Given the description of an element on the screen output the (x, y) to click on. 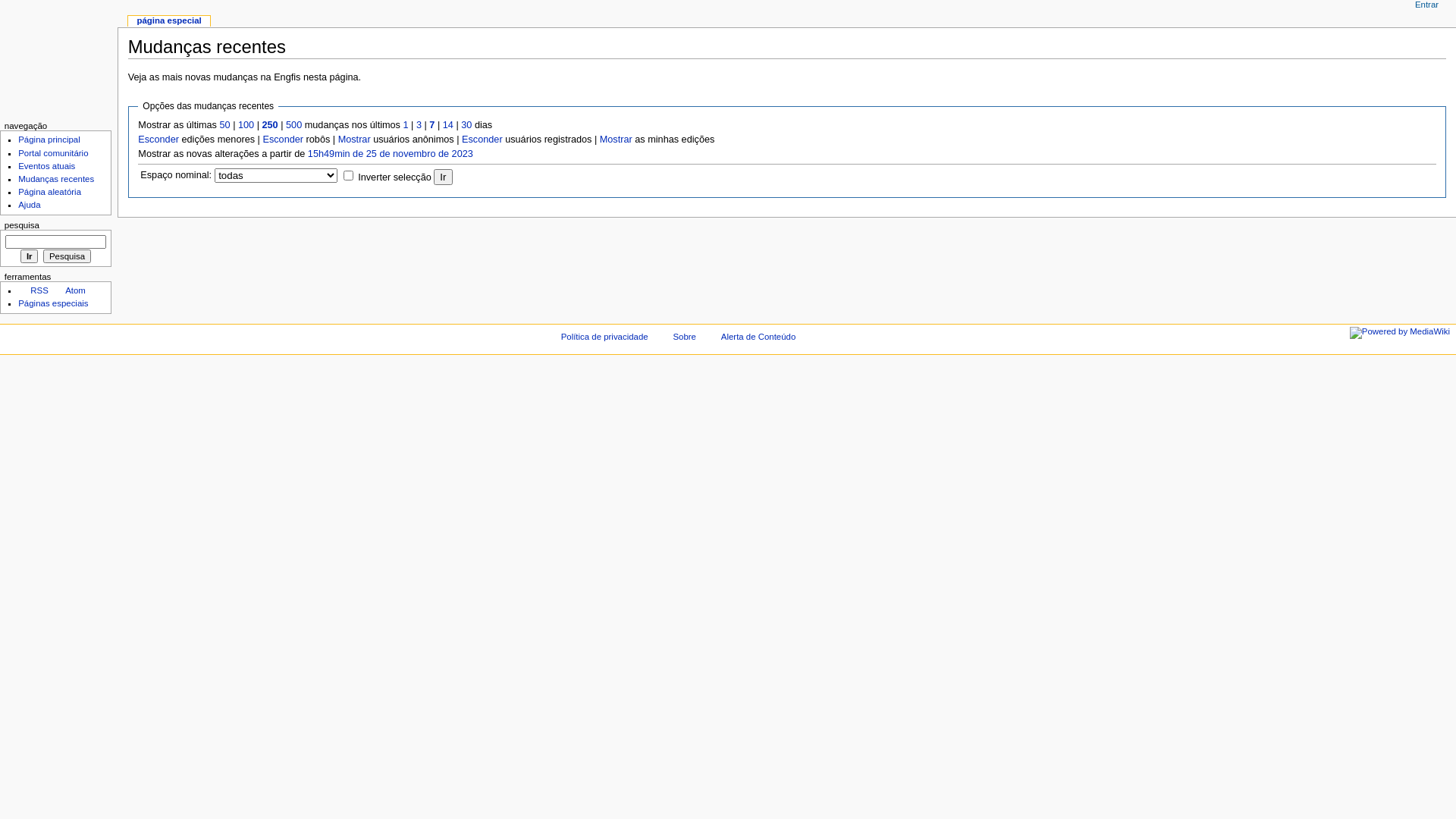
Pesquisar nesta wiki [f] Element type: hover (55, 241)
Esconder Element type: text (282, 139)
Esconder Element type: text (481, 139)
3 Element type: text (418, 124)
Ajuda Element type: text (29, 204)
250 Element type: text (270, 124)
7 Element type: text (431, 124)
Ir Element type: text (442, 177)
Mostrar Element type: text (354, 139)
Esconder Element type: text (158, 139)
RSS Element type: text (33, 289)
500 Element type: text (293, 124)
Entrar Element type: text (1426, 5)
14 Element type: text (447, 124)
30 Element type: text (466, 124)
15h49min de 25 de novembro de 2023 Element type: text (390, 153)
Mostrar Element type: text (615, 139)
Atom Element type: text (69, 289)
1 Element type: text (404, 124)
Ir Element type: text (28, 256)
Eventos atuais Element type: text (46, 165)
50 Element type: text (224, 124)
Pesquisa Element type: text (67, 256)
100 Element type: text (246, 124)
Sobre Element type: text (683, 336)
